Given the description of an element on the screen output the (x, y) to click on. 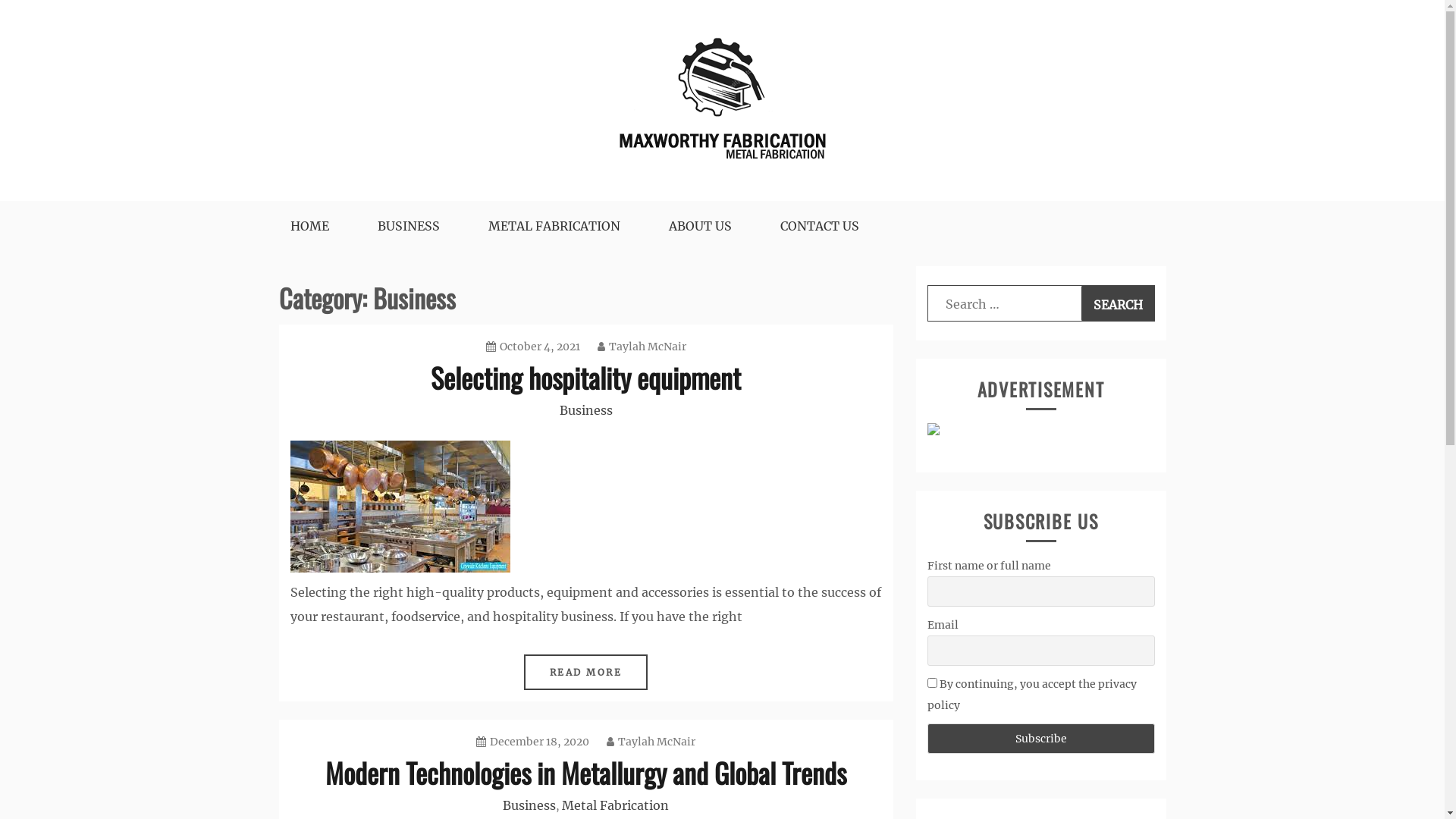
ABOUT US Element type: text (700, 225)
Taylah McNair Element type: text (641, 346)
Maxworthy Fabrication Element type: text (377, 209)
December 18, 2020 Element type: text (532, 741)
October 4, 2021 Element type: text (532, 346)
Selecting hospitality equipment Element type: text (585, 377)
Modern Technologies in Metallurgy and Global Trends Element type: text (585, 772)
HOME Element type: text (308, 225)
BUSINESS Element type: text (408, 225)
Taylah McNair Element type: text (650, 741)
Business Element type: text (528, 804)
Metal Fabrication Element type: text (614, 804)
Search Element type: text (1117, 303)
CONTACT US Element type: text (818, 225)
READ MORE Element type: text (586, 672)
Subscribe Element type: text (1040, 738)
METAL FABRICATION Element type: text (554, 225)
Business Element type: text (585, 409)
